Given the description of an element on the screen output the (x, y) to click on. 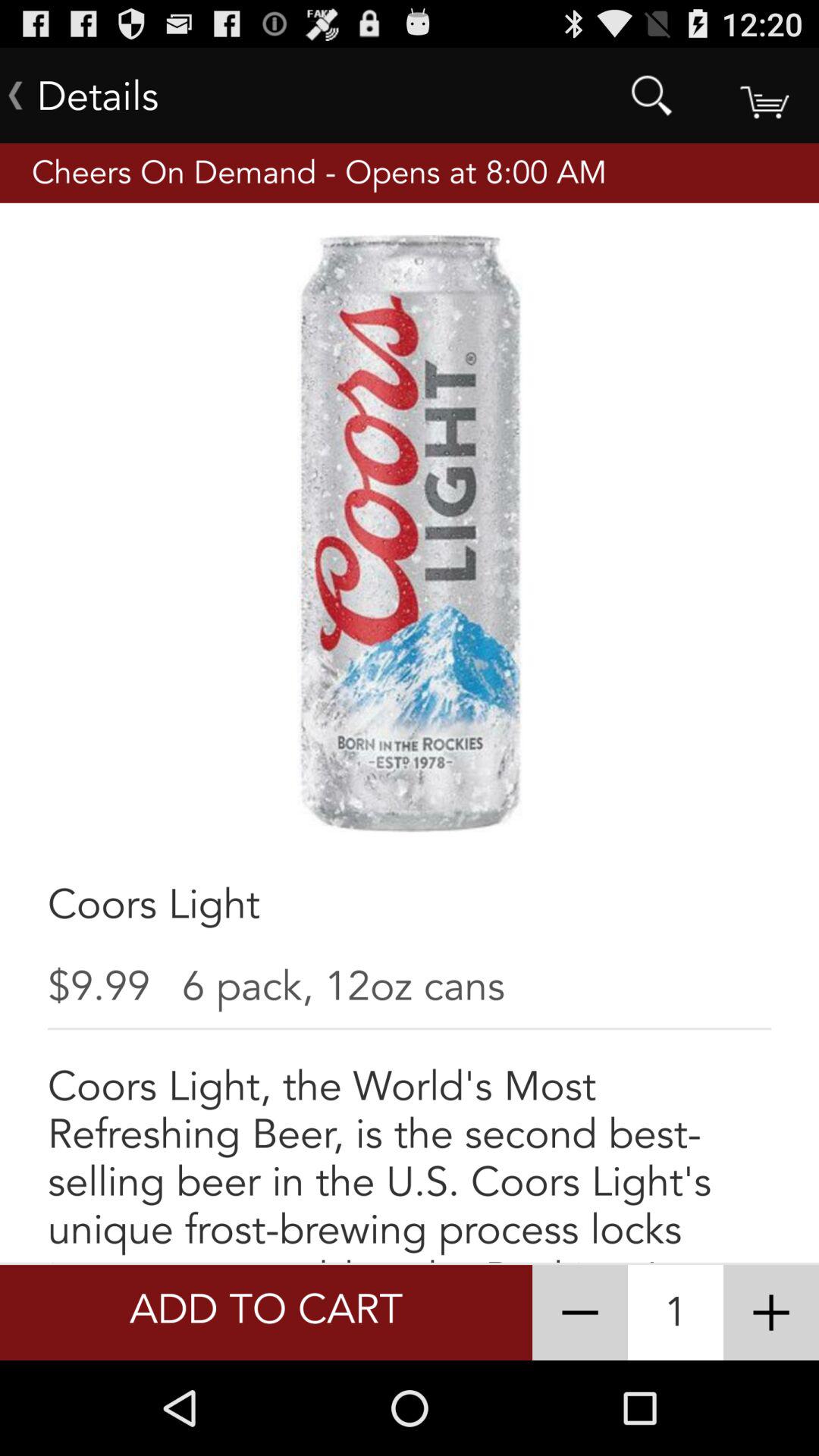
turn on the app next to the details icon (651, 95)
